Given the description of an element on the screen output the (x, y) to click on. 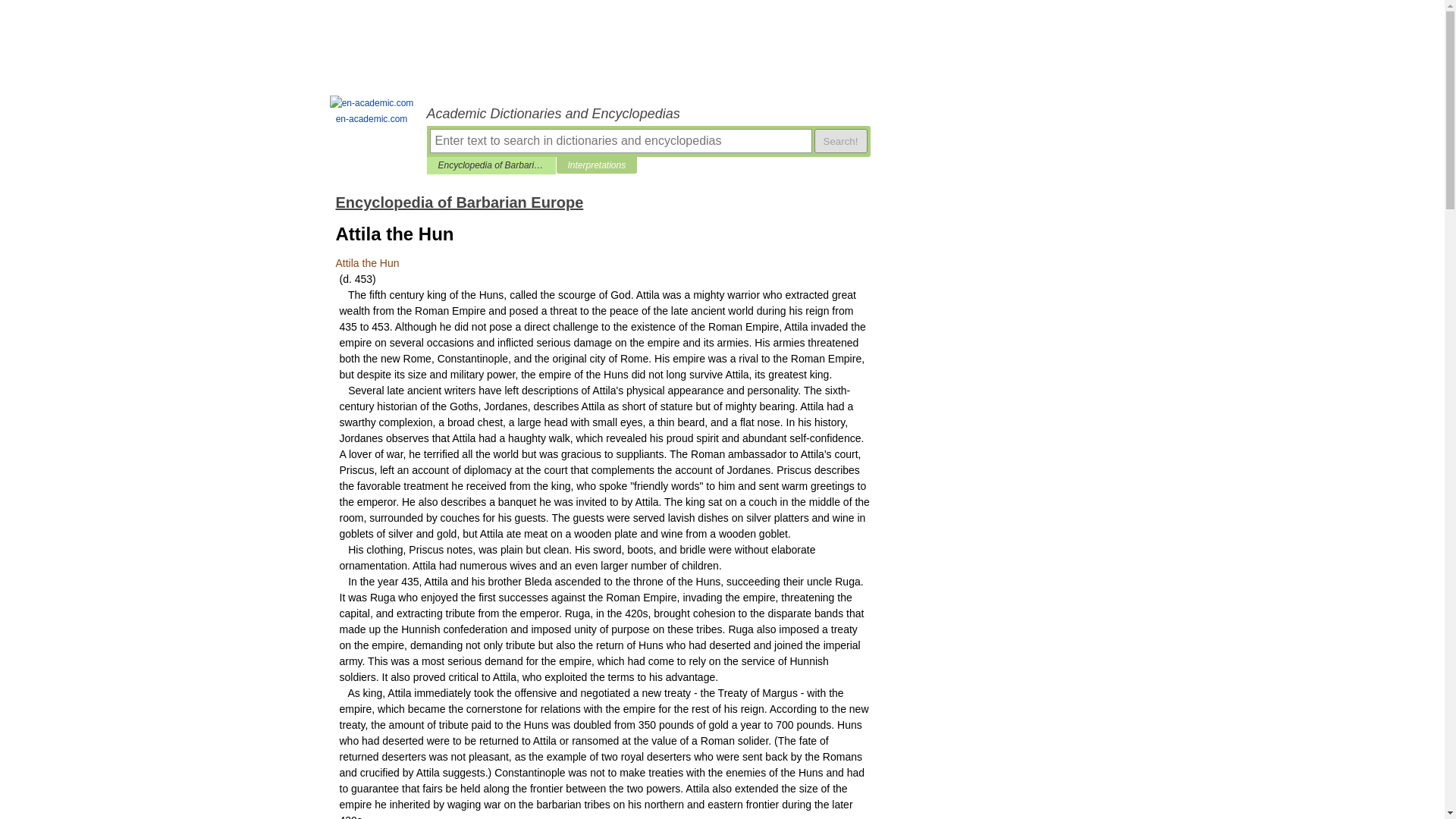
Encyclopedia of Barbarian Europe (458, 202)
Encyclopedia of Barbarian Europe (491, 165)
en-academic.com (371, 111)
Search! (840, 140)
Interpretations (596, 165)
Enter text to search in dictionaries and encyclopedias (619, 140)
Academic Dictionaries and Encyclopedias (647, 114)
